Given the description of an element on the screen output the (x, y) to click on. 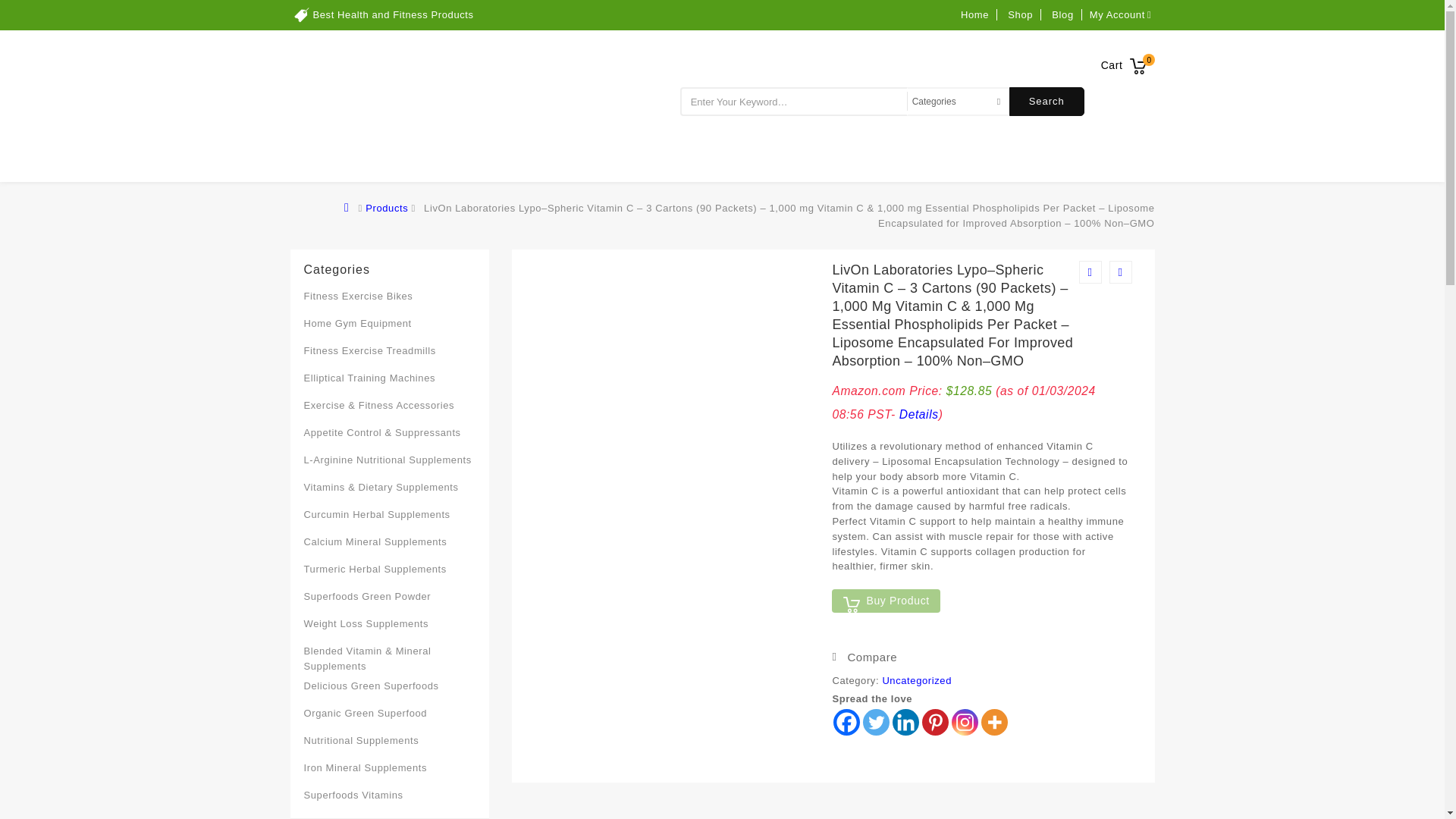
Search (1046, 101)
Products (386, 207)
Uncategorized (917, 680)
Facebook (846, 722)
Details (919, 413)
Linkedin (905, 722)
Blog (1062, 14)
Buy Product (885, 600)
My Account (1121, 14)
Site Title (402, 105)
